Given the description of an element on the screen output the (x, y) to click on. 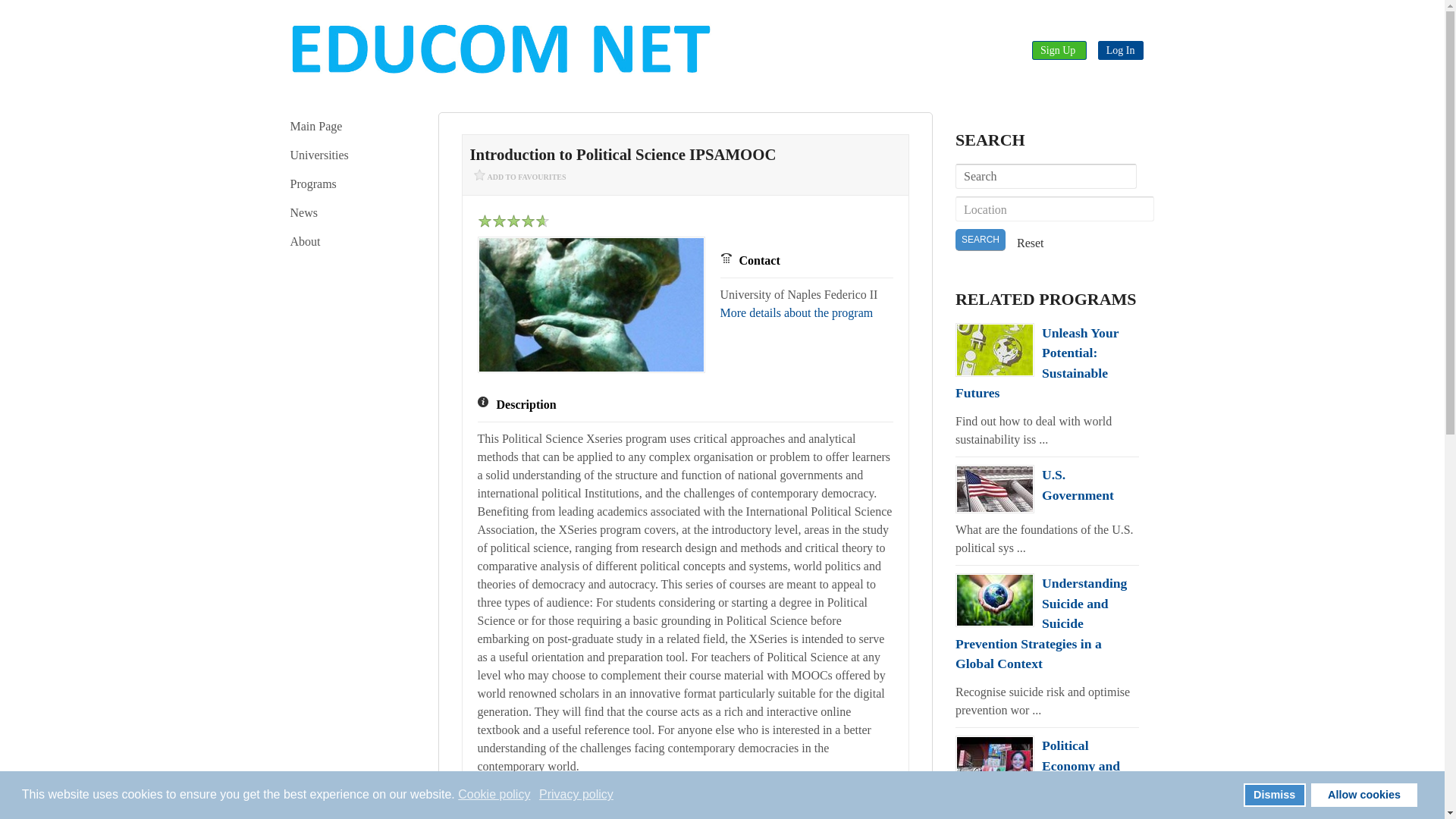
harvardx-us-government-18494 (994, 489)
ADD TO FAVOURITES (520, 178)
Cookie policy (495, 794)
Log In (1119, 49)
More details about the program (796, 312)
1 (506, 220)
5 out of 5 (513, 220)
Add to Favourites (520, 178)
suicide-prevention-13159 (994, 600)
EDUCOM.NET (499, 48)
